Given the description of an element on the screen output the (x, y) to click on. 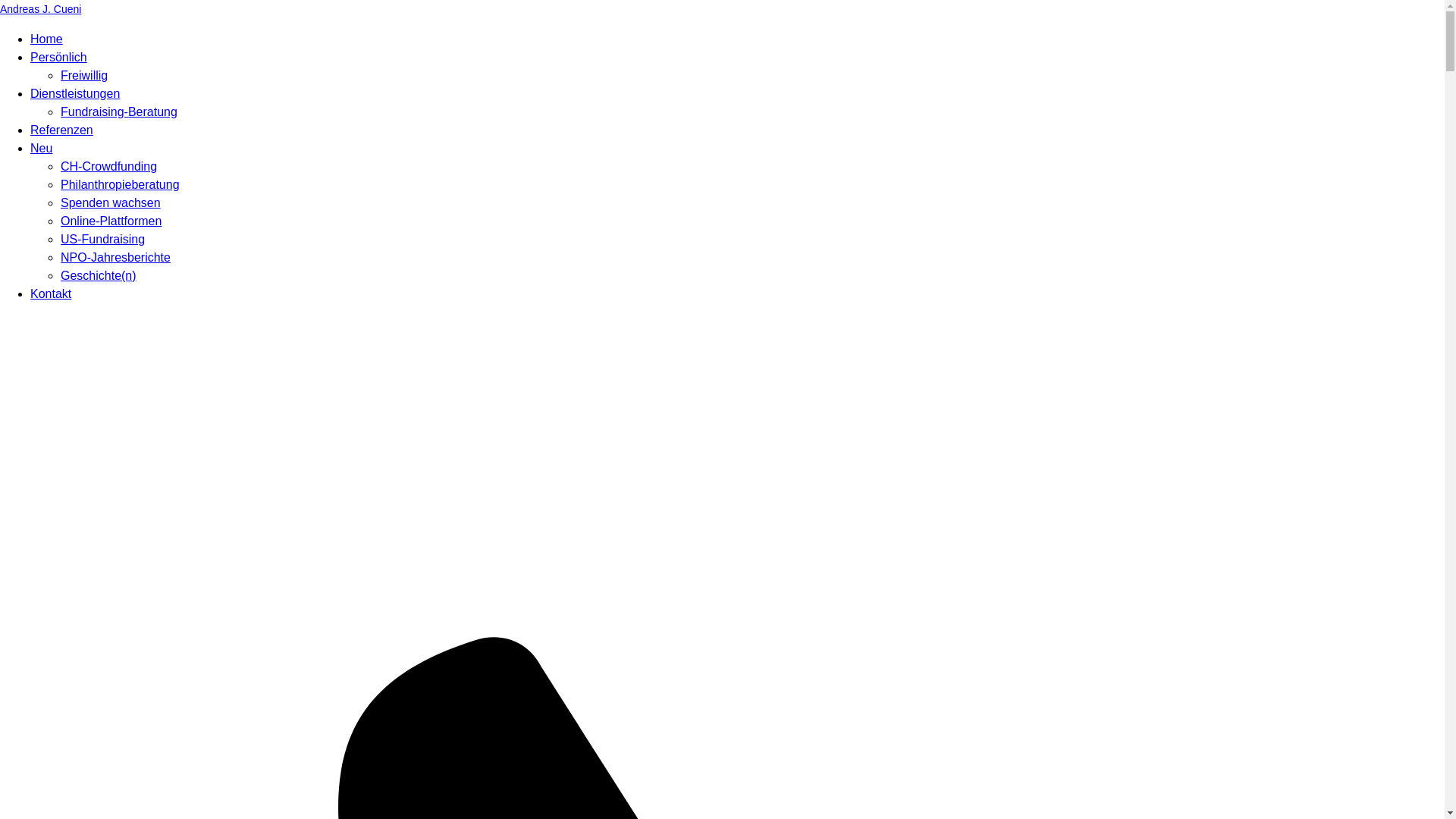
Fundraising-Beratung Element type: text (118, 111)
Philanthropieberatung Element type: text (119, 184)
Home Element type: text (46, 38)
Andreas J. Cueni Element type: text (722, 9)
Neu Element type: text (41, 147)
Spenden wachsen Element type: text (110, 202)
Freiwillig Element type: text (83, 75)
Online-Plattformen Element type: text (110, 220)
CH-Crowdfunding Element type: text (108, 166)
Kontakt Element type: text (50, 293)
NPO-Jahresberichte Element type: text (115, 257)
Referenzen Element type: text (61, 129)
Dienstleistungen Element type: text (74, 93)
US-Fundraising Element type: text (102, 238)
Geschichte(n) Element type: text (98, 275)
